Given the description of an element on the screen output the (x, y) to click on. 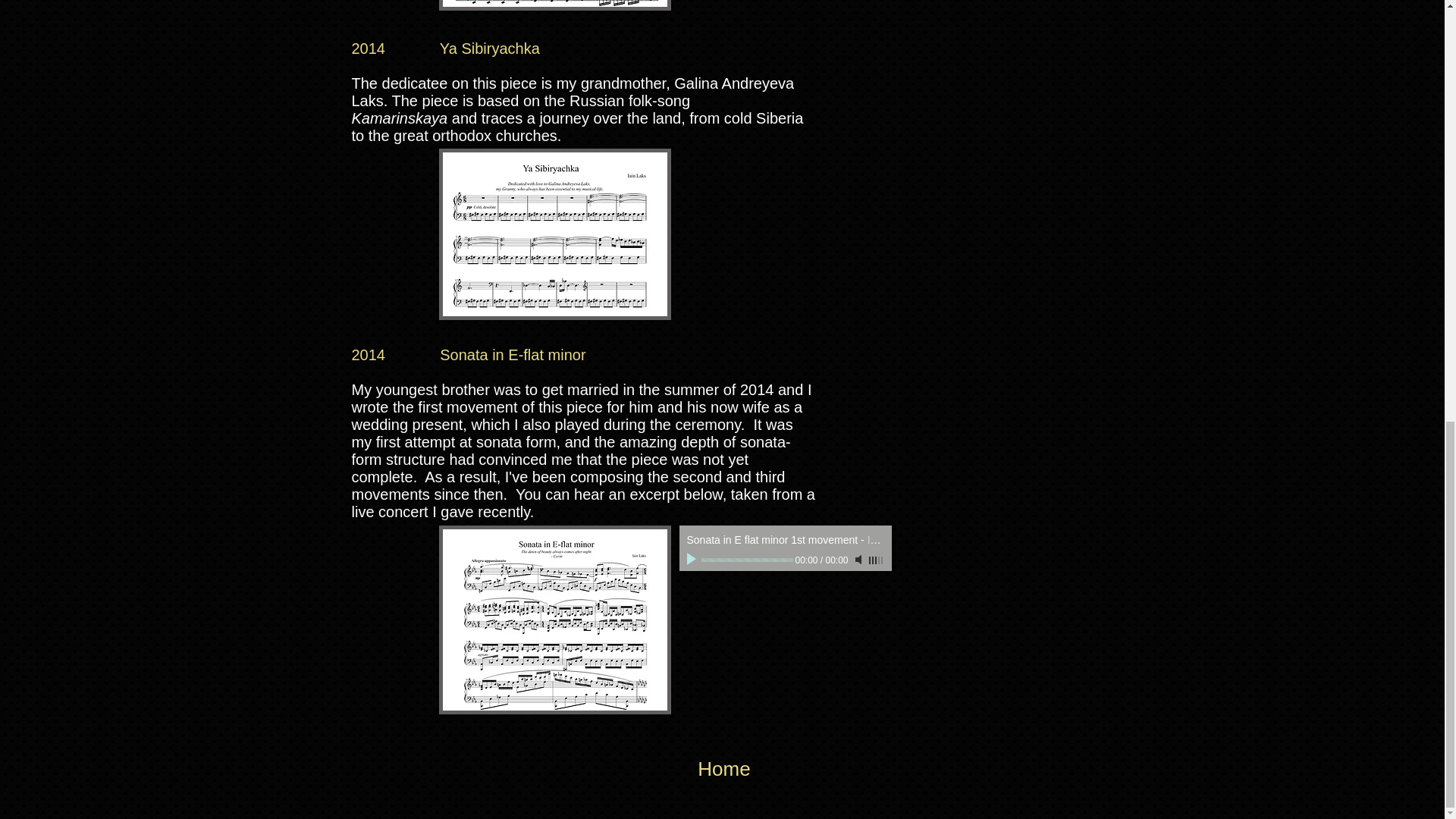
External YouTube (869, 241)
0 (746, 559)
Home (723, 768)
